Given the description of an element on the screen output the (x, y) to click on. 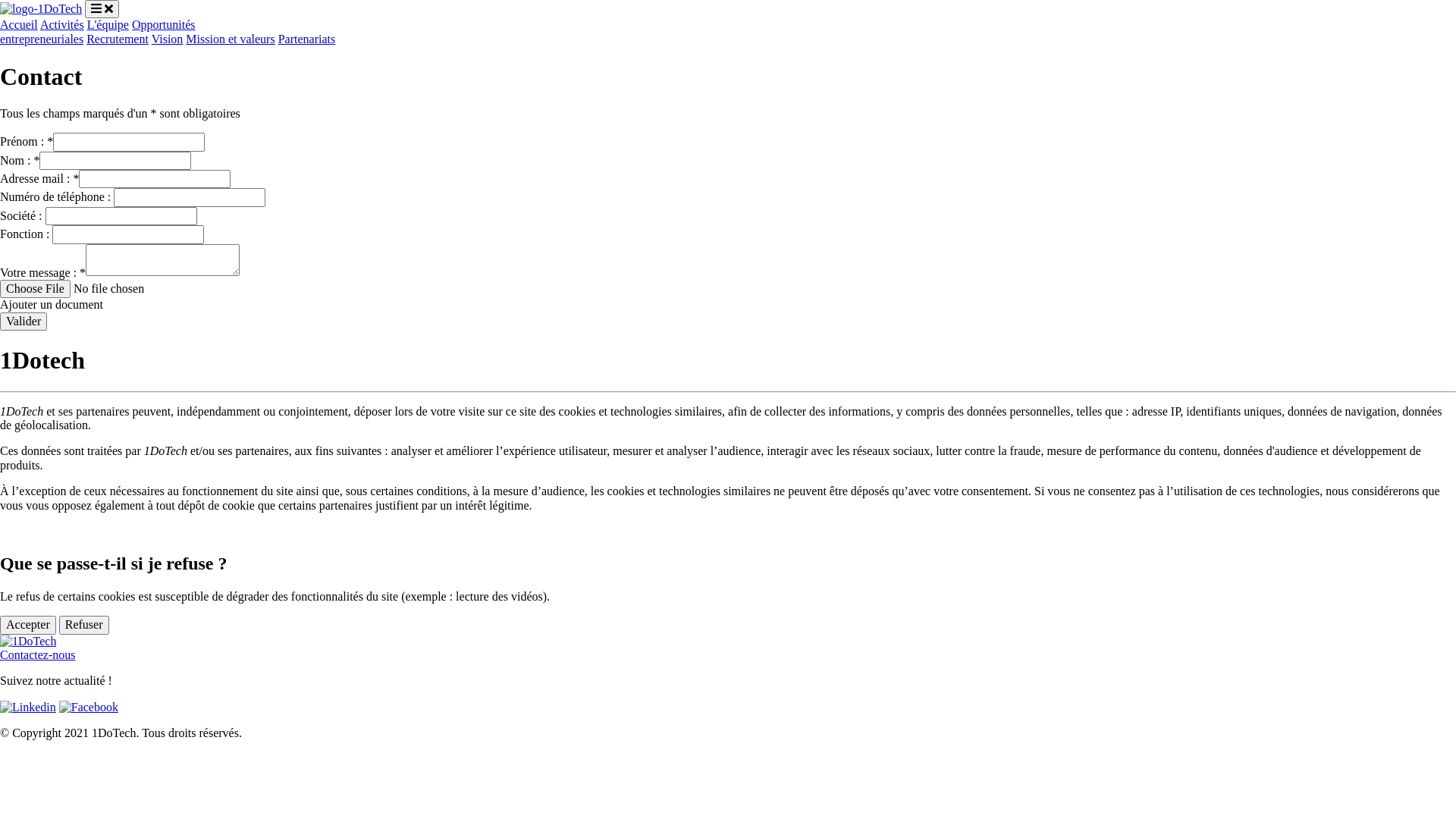
Contactez-nous Element type: text (37, 654)
Refuser Element type: text (84, 624)
Valider Element type: text (23, 321)
Accepter Element type: text (28, 624)
Accueil Element type: text (18, 24)
Mission et valeurs Element type: text (229, 38)
Recrutement Element type: text (117, 38)
Vision Element type: text (167, 38)
Partenariats Element type: text (306, 38)
